Given the description of an element on the screen output the (x, y) to click on. 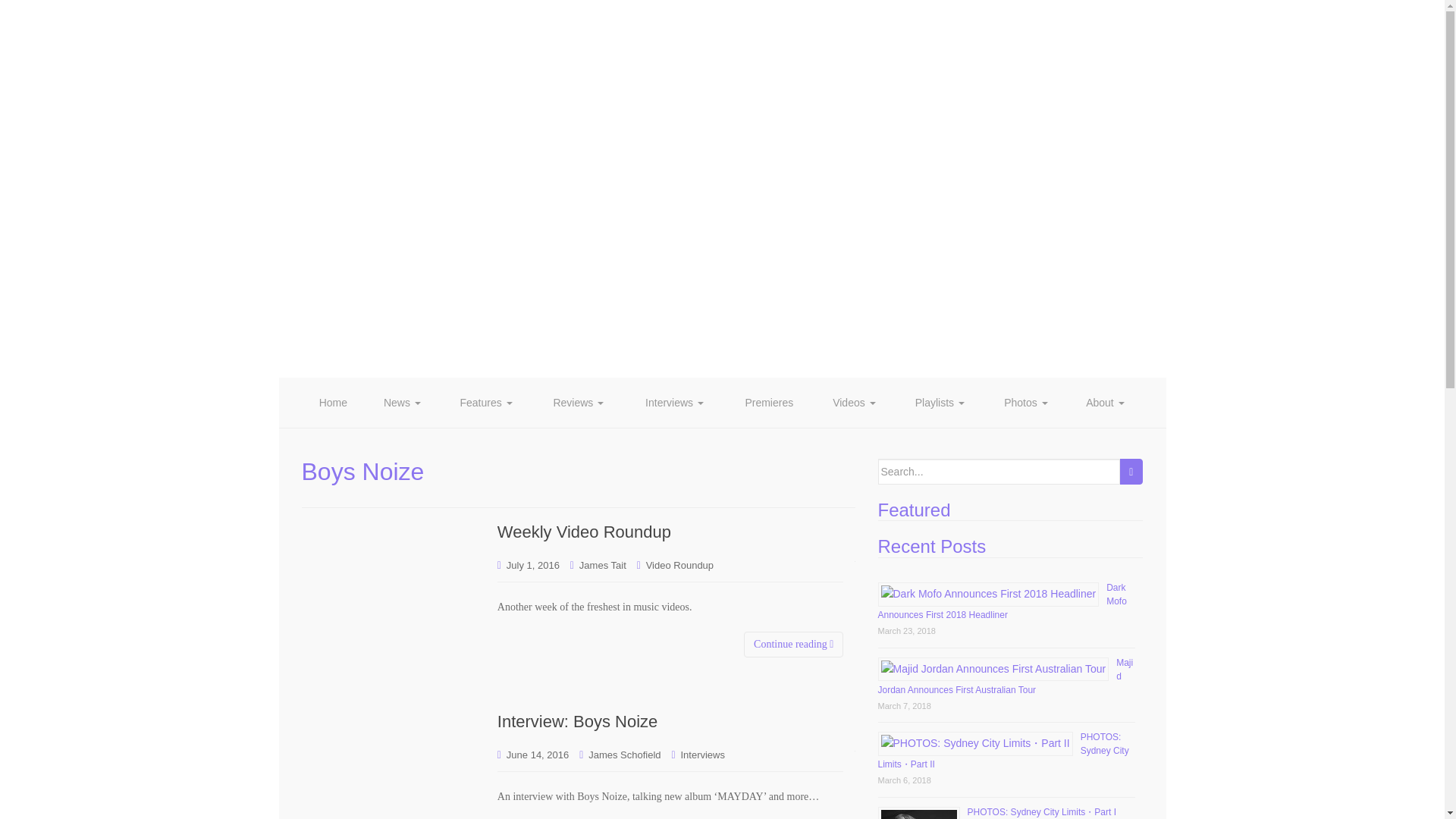
Reviews (578, 402)
Photos (1026, 402)
July 1, 2016 (532, 564)
Reviews (578, 402)
Video Roundup (679, 564)
Playlists (939, 402)
James Tait (602, 564)
Videos (854, 402)
Interviews (674, 402)
About (1104, 402)
